Given the description of an element on the screen output the (x, y) to click on. 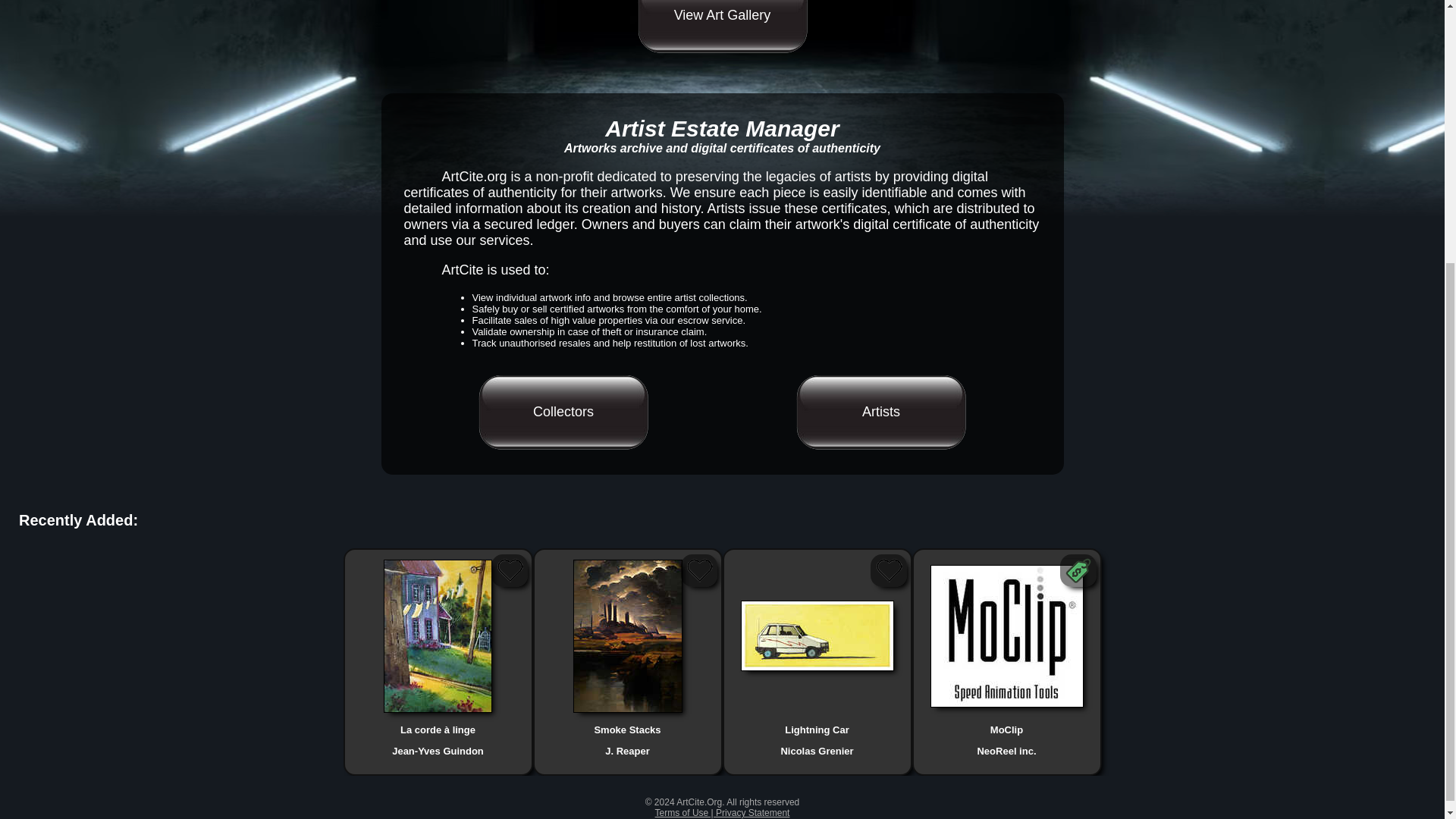
View Art Gallery (721, 26)
View Art Gallery (721, 26)
Artists (881, 411)
Collectors (563, 411)
Artists (881, 411)
Collectors (563, 411)
